Given the description of an element on the screen output the (x, y) to click on. 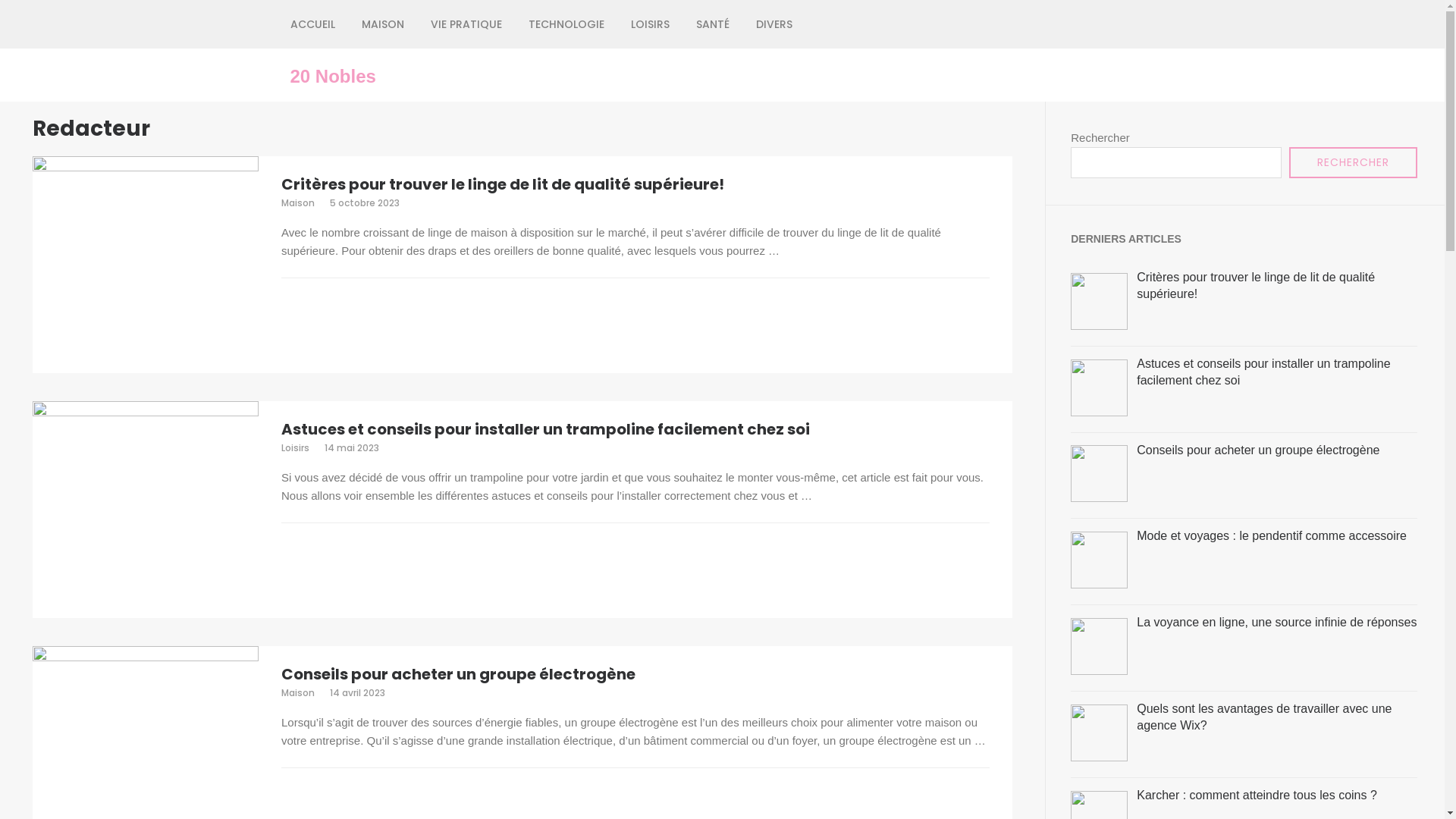
MAISON Element type: text (381, 24)
LOISIRS Element type: text (649, 24)
VIE PRATIQUE Element type: text (466, 24)
ACCUEIL Element type: text (311, 24)
Loisirs Element type: text (295, 447)
Quels sont les avantages de travailler avec une agence Wix? Element type: text (1263, 716)
Maison Element type: text (297, 692)
14 mai 2023 Element type: text (351, 447)
Karcher : comment atteindre tous les coins ? Element type: text (1256, 794)
5 octobre 2023 Element type: text (364, 202)
Mode et voyages : le pendentif comme accessoire Element type: text (1271, 535)
20 Nobles Element type: text (332, 76)
DIVERS Element type: text (773, 24)
TECHNOLOGIE Element type: text (565, 24)
Maison Element type: text (297, 202)
RECHERCHER Element type: text (1353, 162)
14 avril 2023 Element type: text (357, 692)
